Given the description of an element on the screen output the (x, y) to click on. 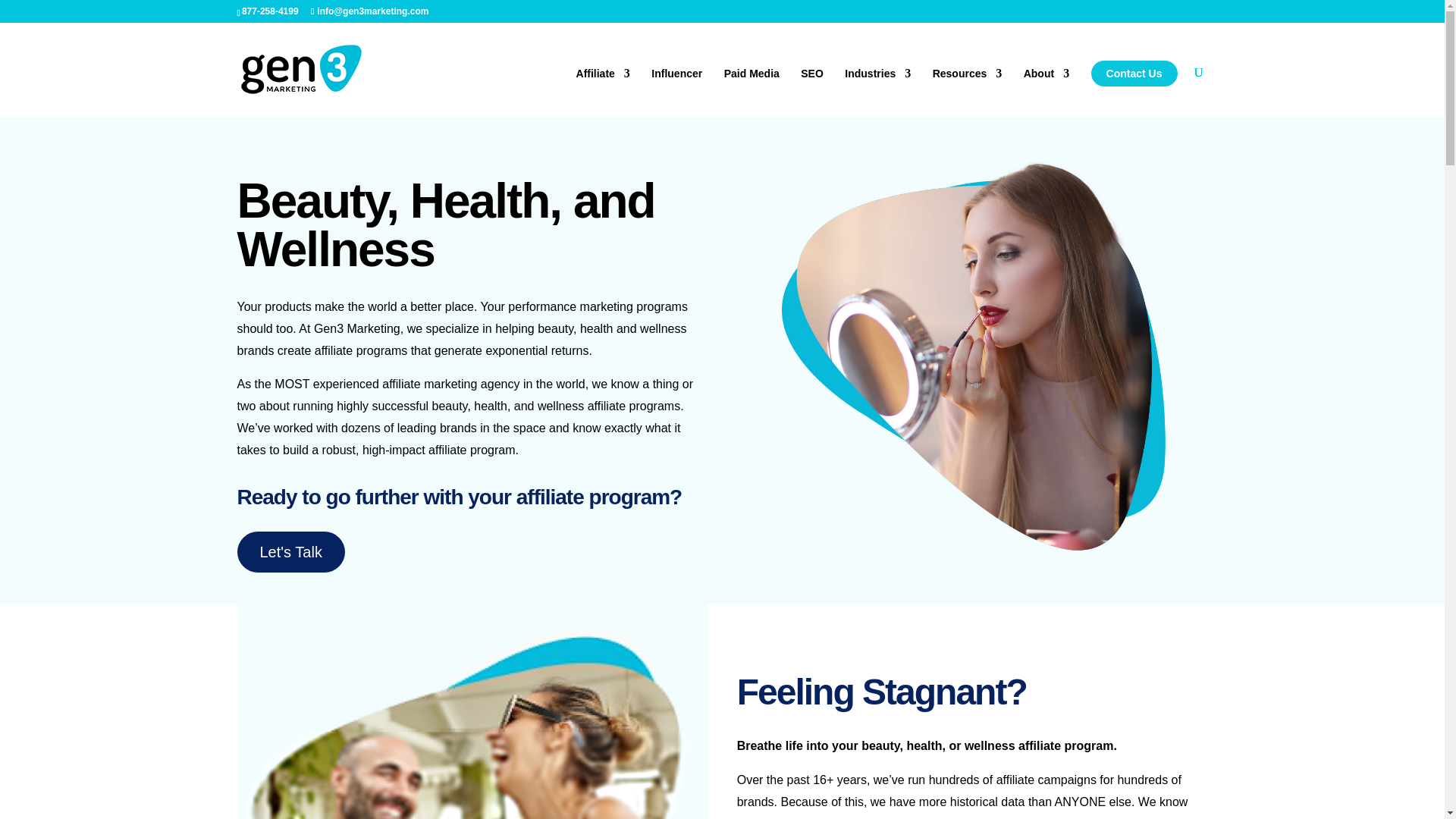
Resources (968, 92)
Financial Services (471, 711)
About (1045, 92)
Contact Us (1133, 73)
Influencer (675, 92)
Industries (877, 92)
Affiliate (603, 92)
Paid Media (750, 92)
